Given the description of an element on the screen output the (x, y) to click on. 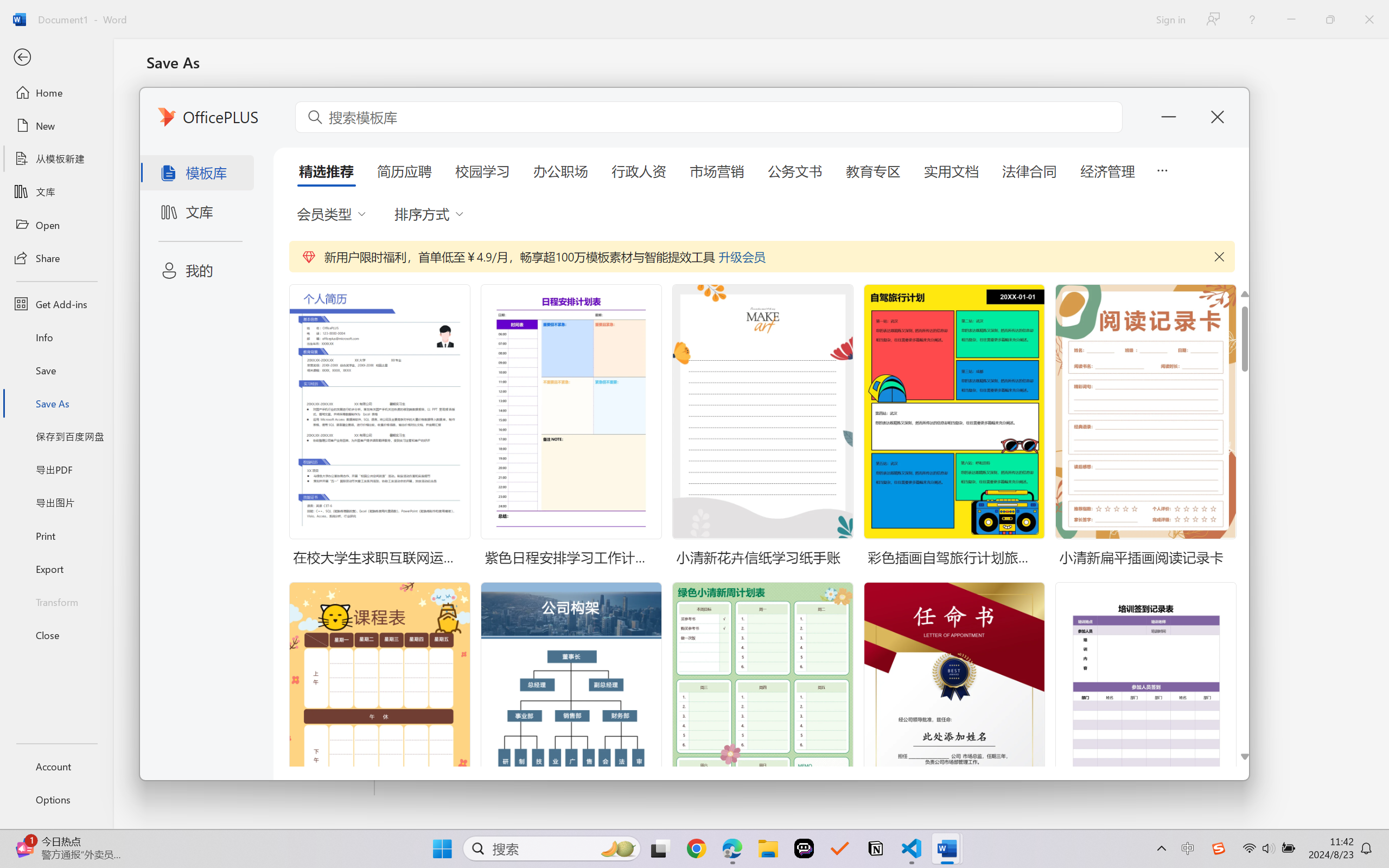
Account (56, 765)
Info (56, 337)
Export (56, 568)
Get Add-ins (56, 303)
